Given the description of an element on the screen output the (x, y) to click on. 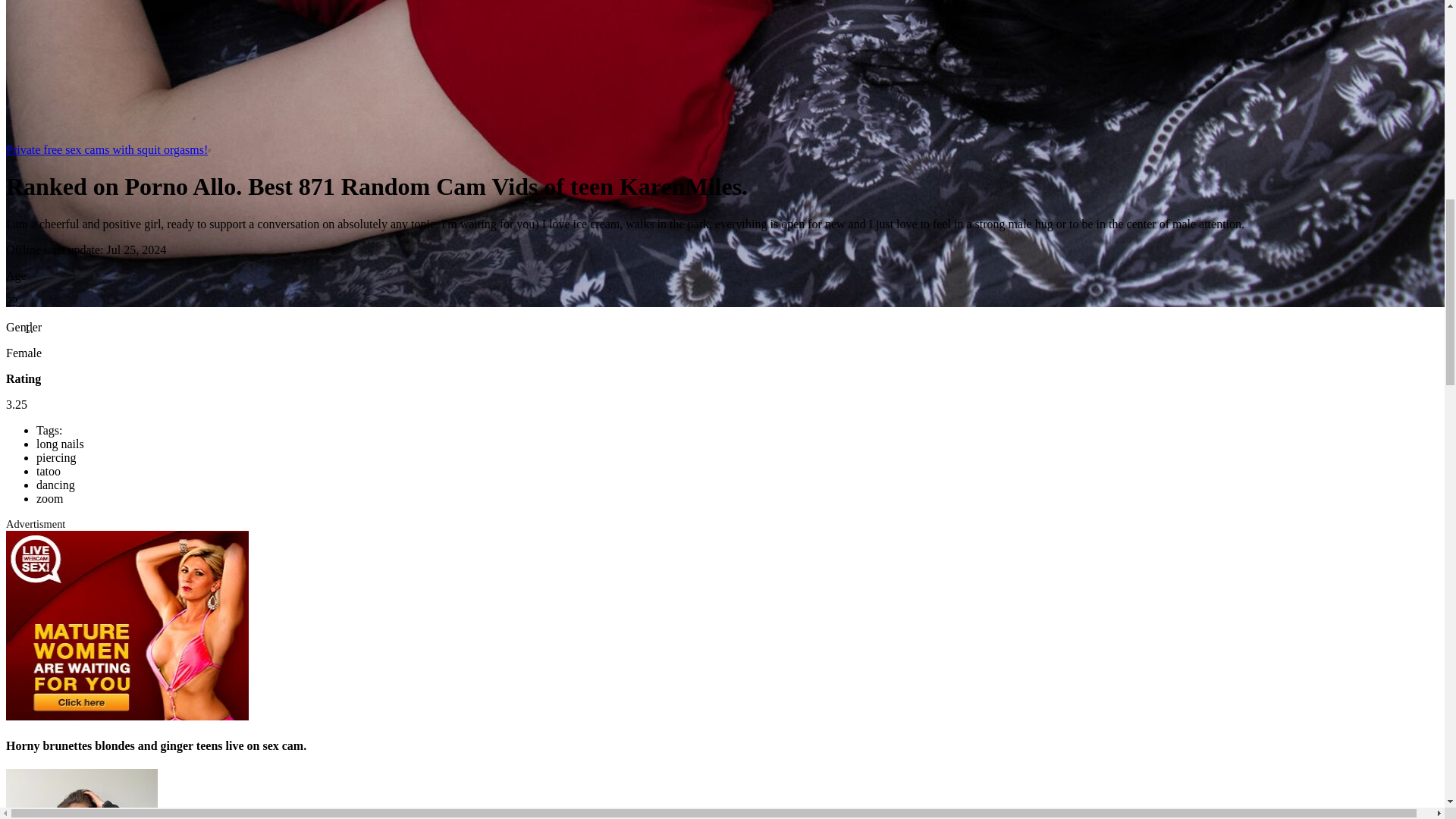
Private free sex cams with squit orgasms! (106, 149)
Private free sex cams with squit orgasms! (106, 149)
